Given the description of an element on the screen output the (x, y) to click on. 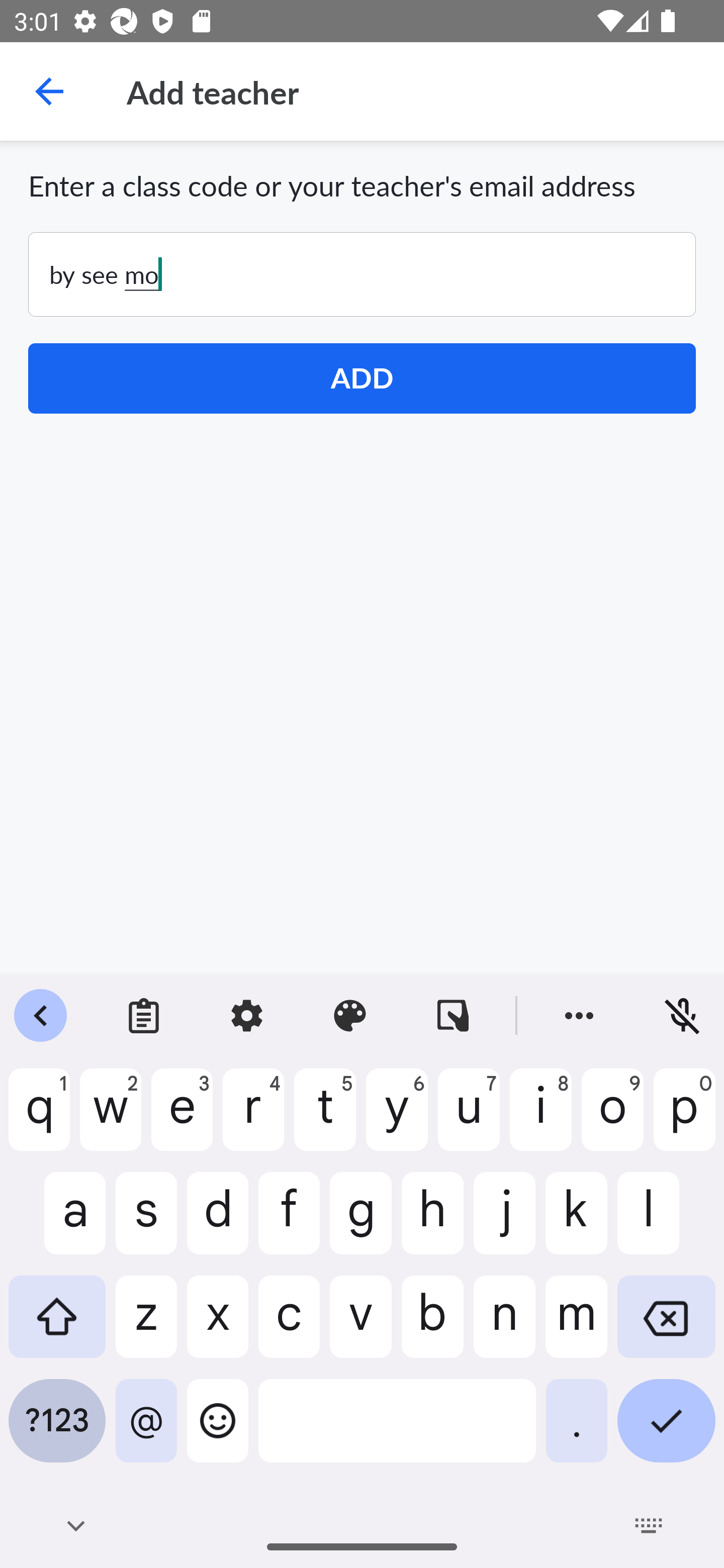
Navigate up (49, 91)
by see mo e.g. ABC123 or teacher@example.com (361, 274)
ADD (361, 378)
